Given the description of an element on the screen output the (x, y) to click on. 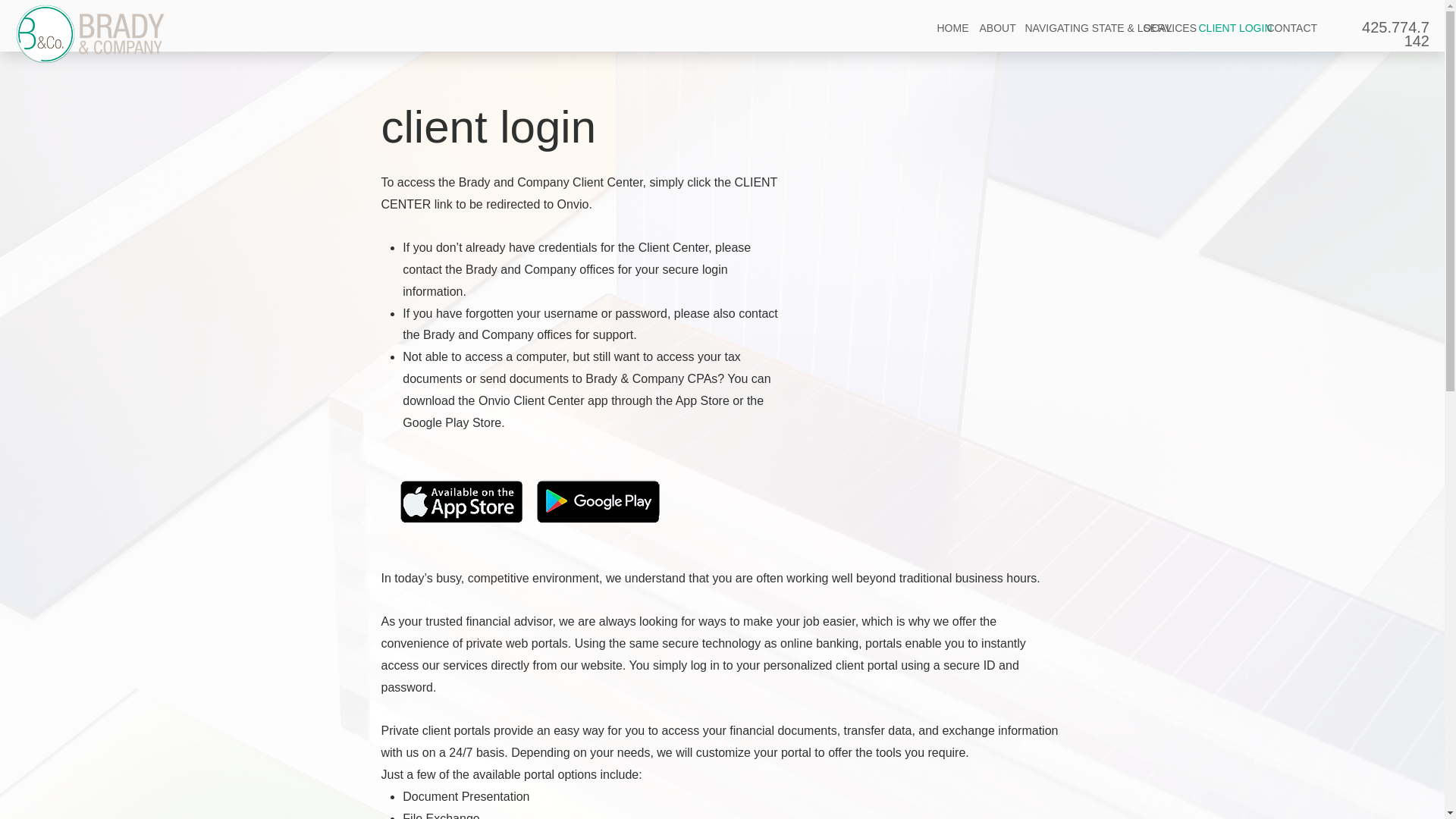
HOME (946, 28)
CONTACT (1282, 28)
CLIENT LOGIN (1221, 28)
ABOUT (990, 28)
